Given the description of an element on the screen output the (x, y) to click on. 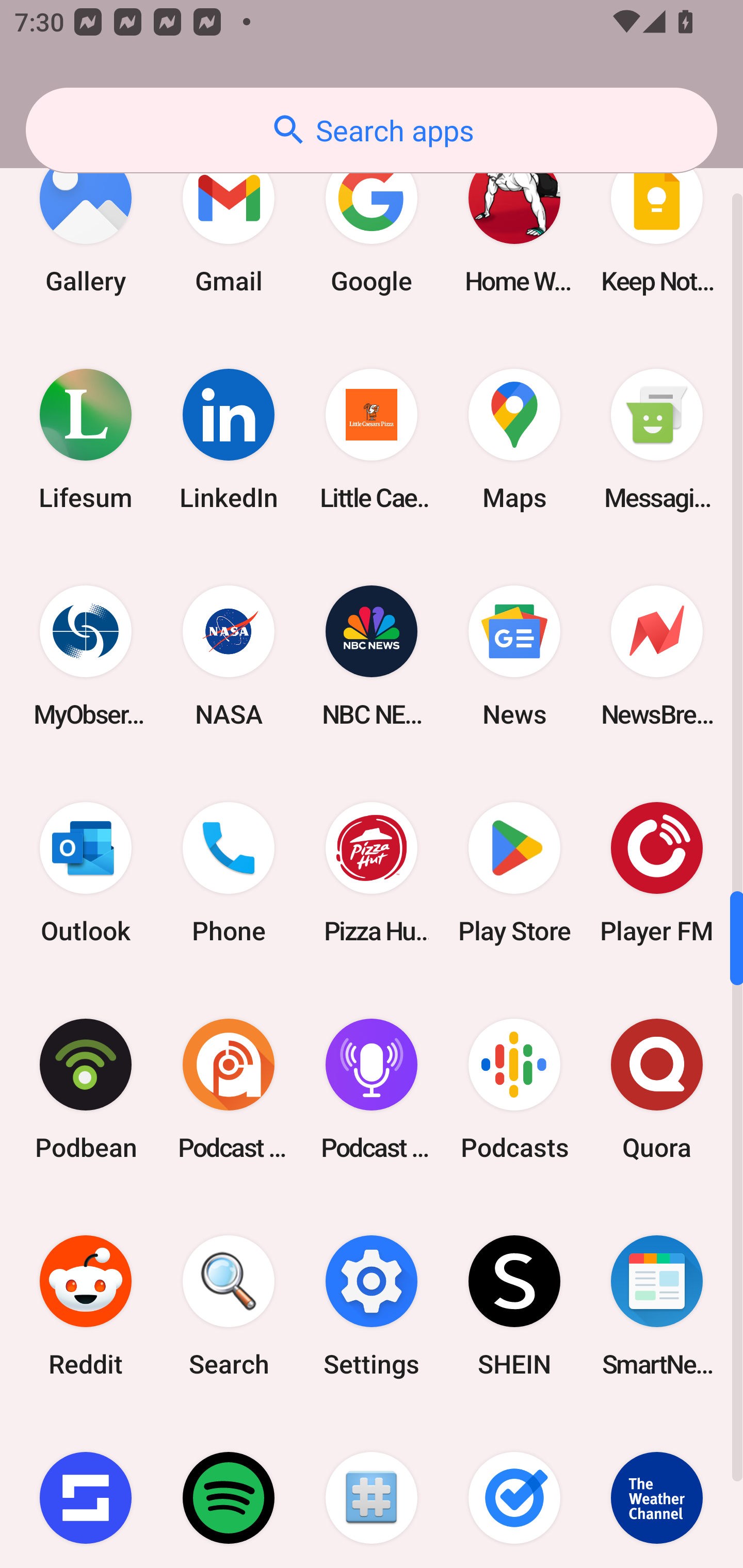
  Search apps (371, 130)
Gallery (85, 222)
Gmail (228, 222)
Google (371, 222)
Home Workout (514, 222)
Keep Notes (656, 222)
Lifesum (85, 438)
LinkedIn (228, 438)
Little Caesars Pizza (371, 438)
Maps (514, 438)
Messaging (656, 438)
MyObservatory (85, 656)
NASA (228, 656)
NBC NEWS (371, 656)
News (514, 656)
NewsBreak (656, 656)
Outlook (85, 873)
Phone (228, 873)
Pizza Hut HK & Macau (371, 873)
Play Store (514, 873)
Player FM (656, 873)
Podbean (85, 1089)
Podcast Addict (228, 1089)
Podcast Player (371, 1089)
Podcasts (514, 1089)
Quora (656, 1089)
Reddit (85, 1305)
Search (228, 1305)
Settings (371, 1305)
SHEIN (514, 1305)
SmartNews (656, 1305)
Sofascore (85, 1491)
Spotify (228, 1491)
Superuser (371, 1491)
Tasks (514, 1491)
The Weather Channel (656, 1491)
